Given the description of an element on the screen output the (x, y) to click on. 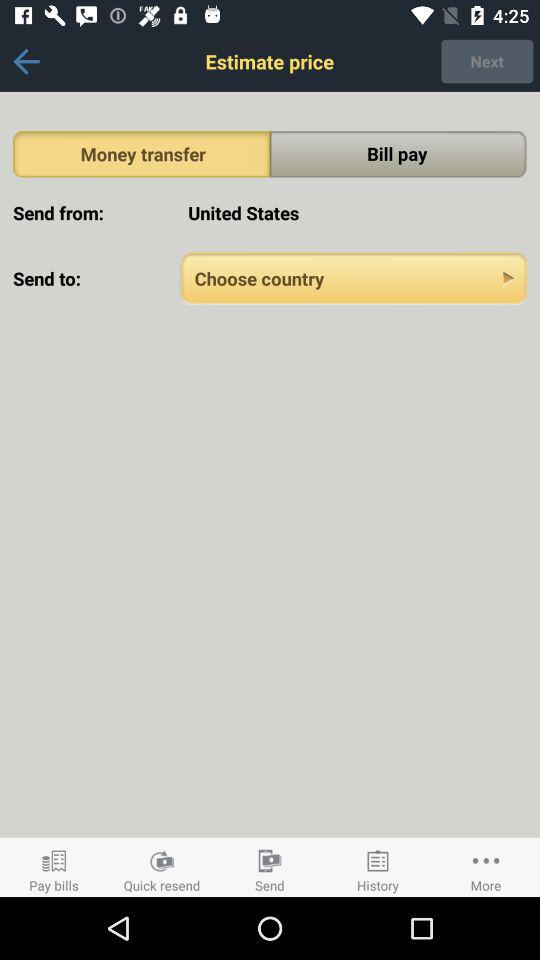
tap the item above the send to: (353, 212)
